Given the description of an element on the screen output the (x, y) to click on. 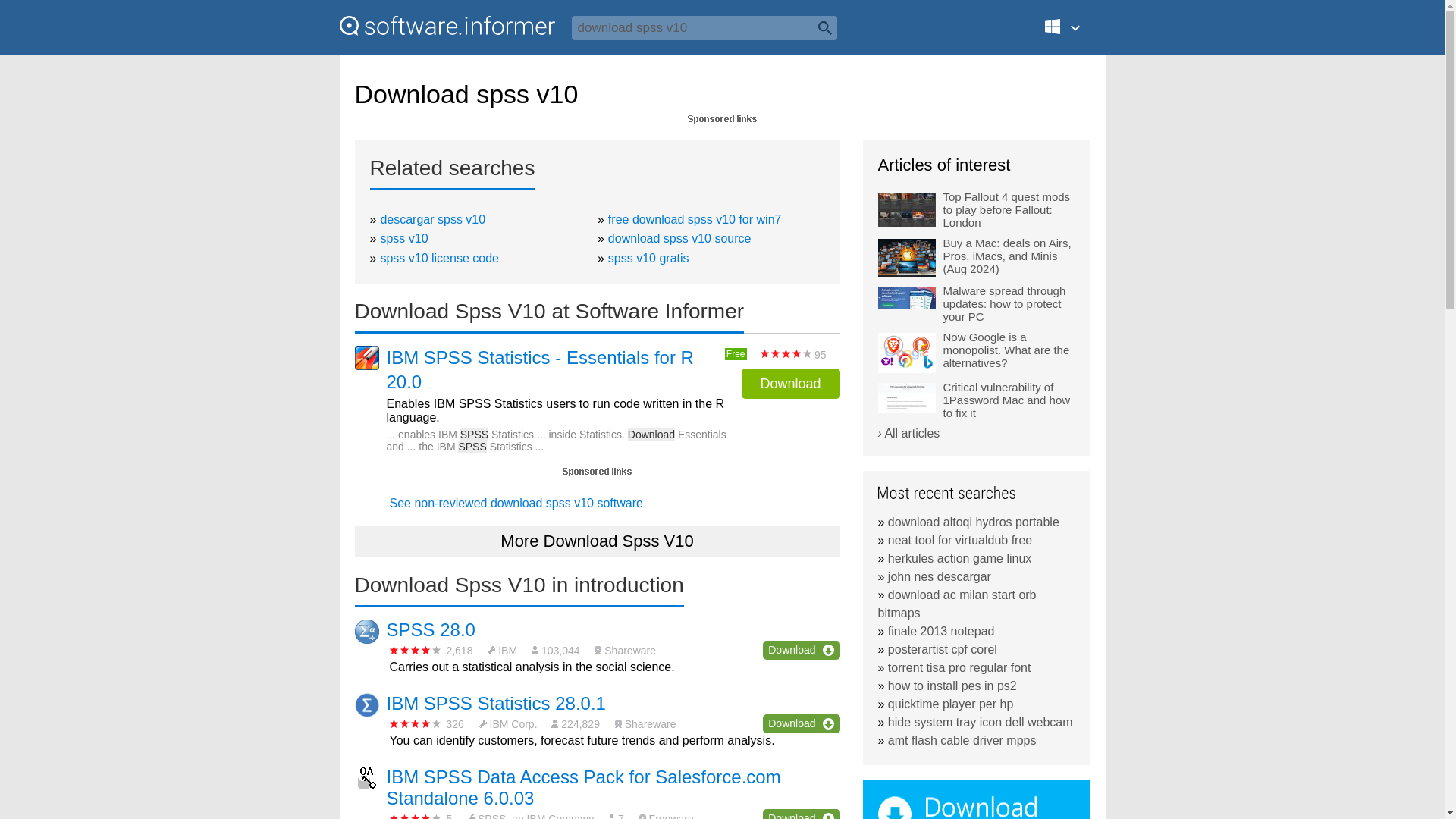
Download (801, 814)
Download (790, 383)
download spss v10 source (679, 237)
download spss v10 (704, 27)
IBM SPSS Statistics 28.0.1 (496, 702)
3.7 (415, 723)
SPSS 28.0 (431, 629)
IBM SPSS Statistics - Essentials for R 20.0 (553, 369)
